Given the description of an element on the screen output the (x, y) to click on. 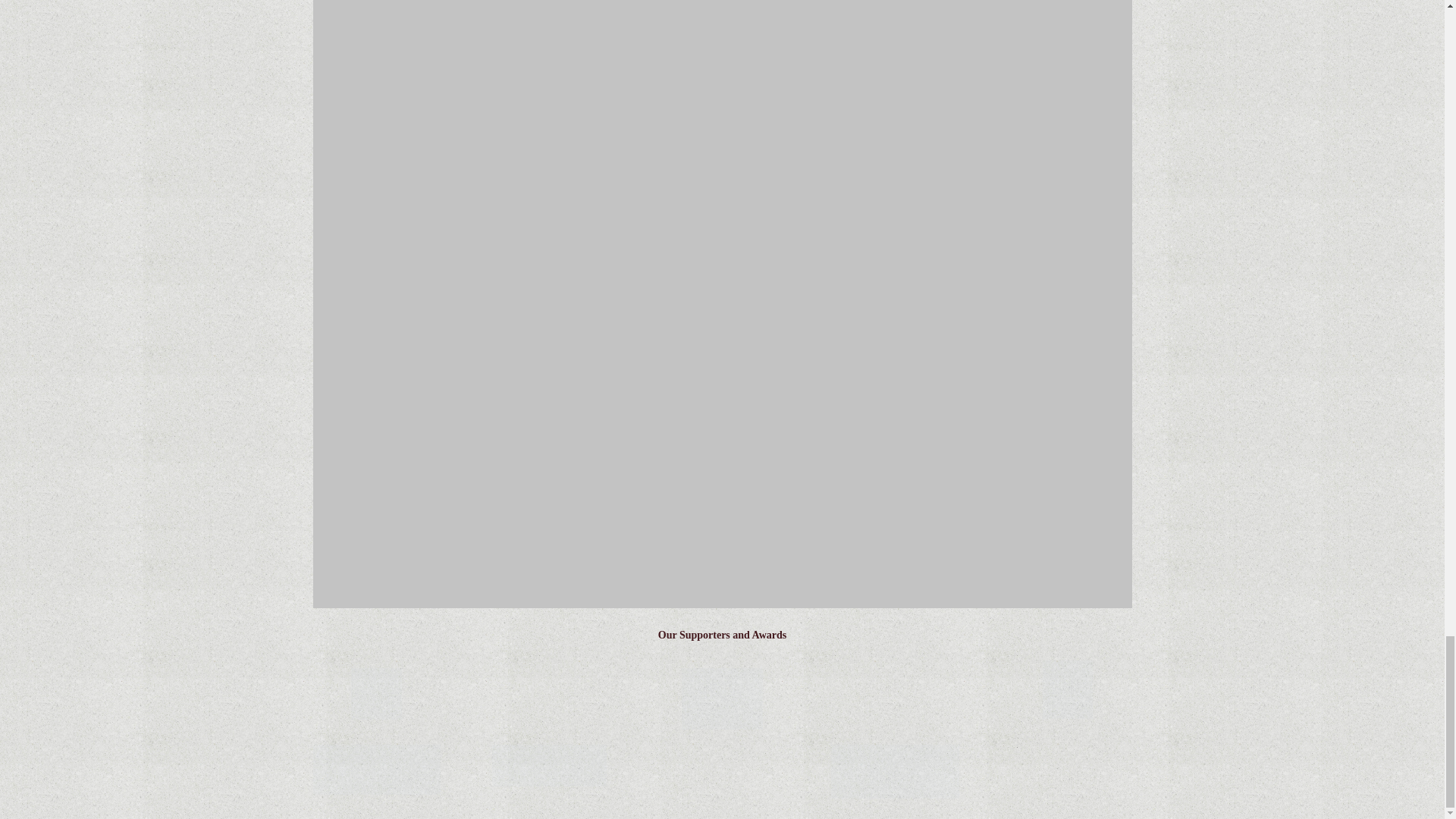
DevonandCornwall (376, 769)
HCA We are members web colour bg-transparent (721, 698)
Soup-Winner-logo copy (375, 693)
